Given the description of an element on the screen output the (x, y) to click on. 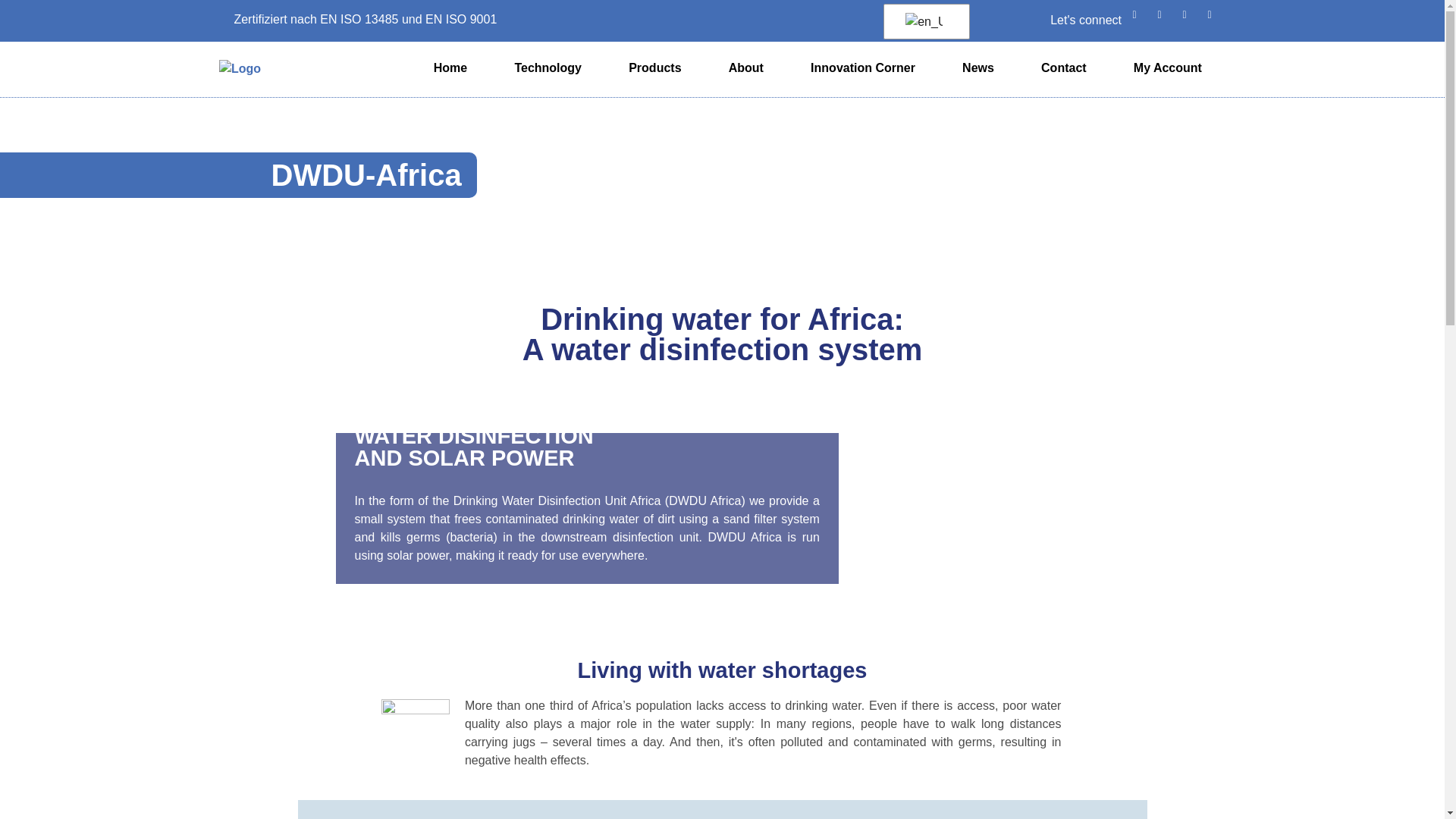
Innovation Corner (863, 67)
English (923, 22)
Home (451, 67)
English (923, 21)
Contact (1063, 67)
Logo (239, 68)
Technology (547, 67)
News (978, 67)
About (745, 67)
Products (654, 67)
My Account (1167, 67)
 Zertifiziert nach EN ISO 13485 und EN ISO 9001 (357, 19)
